Given the description of an element on the screen output the (x, y) to click on. 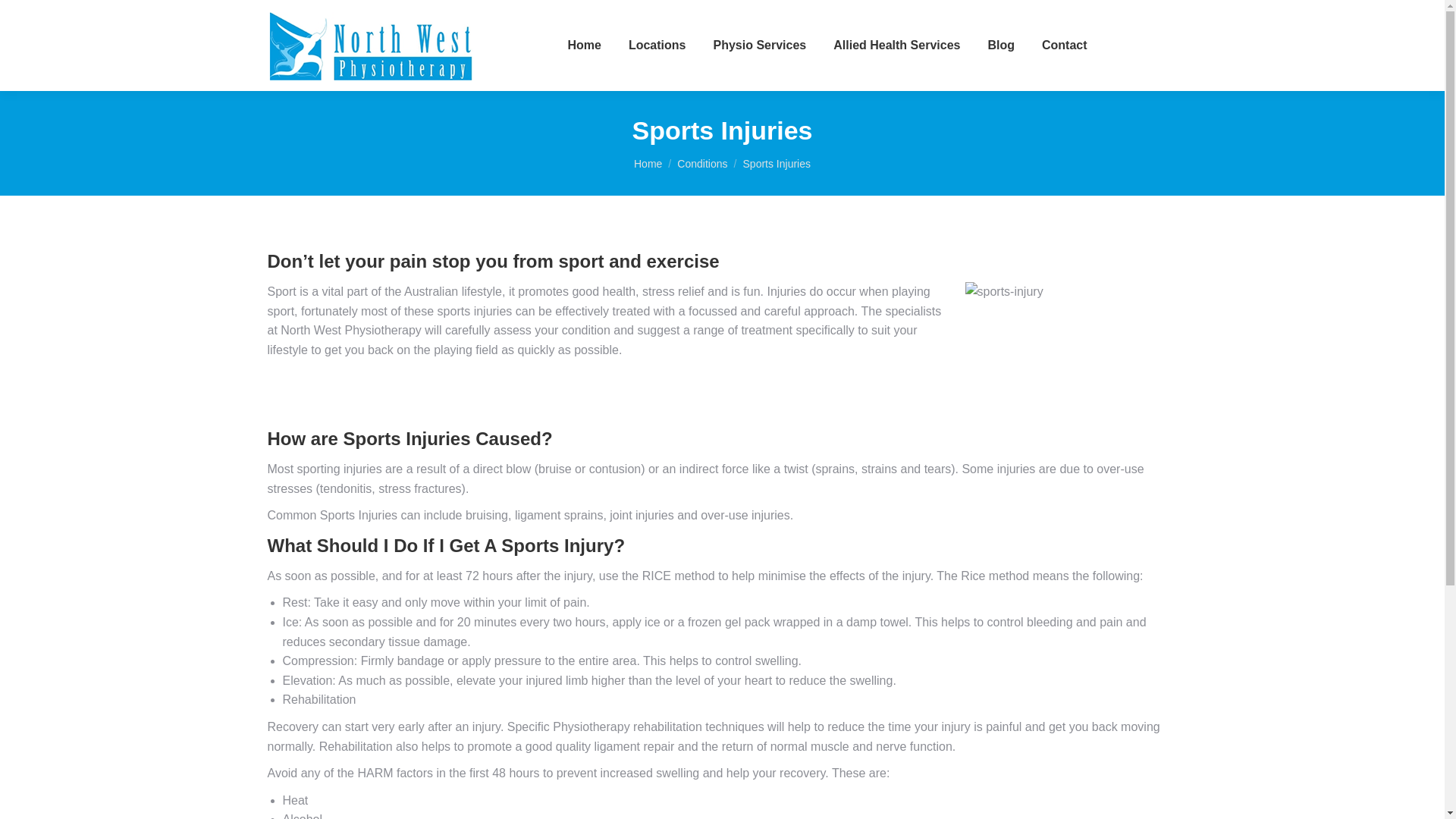
Physio Services (759, 44)
Locations (657, 44)
Conditions (701, 163)
Home (647, 163)
Allied Health Services (895, 44)
